Given the description of an element on the screen output the (x, y) to click on. 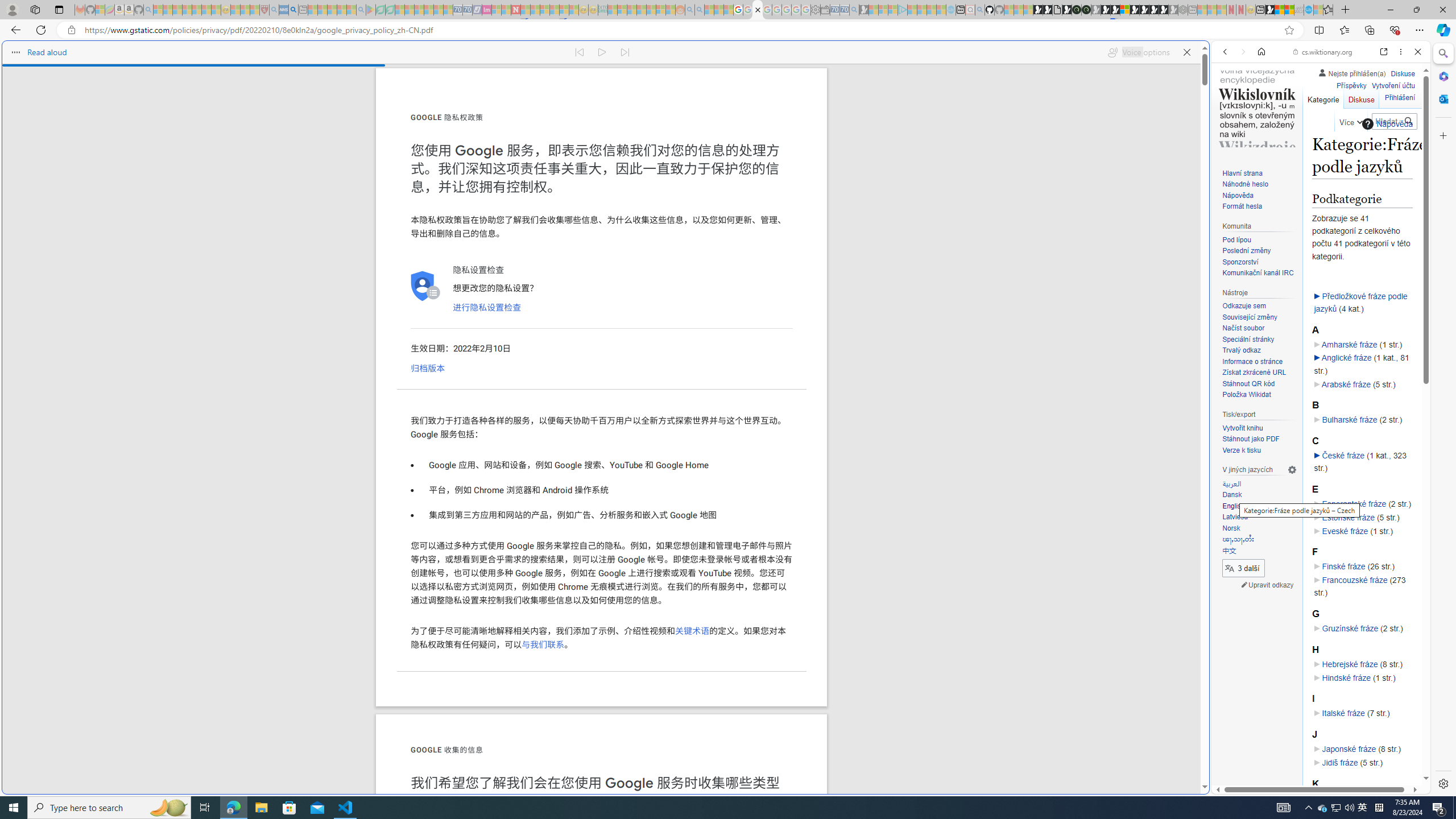
English (1259, 506)
utah sues federal government - Search (292, 9)
Latest Politics News & Archive | Newsweek.com - Sleeping (515, 9)
